Given the description of an element on the screen output the (x, y) to click on. 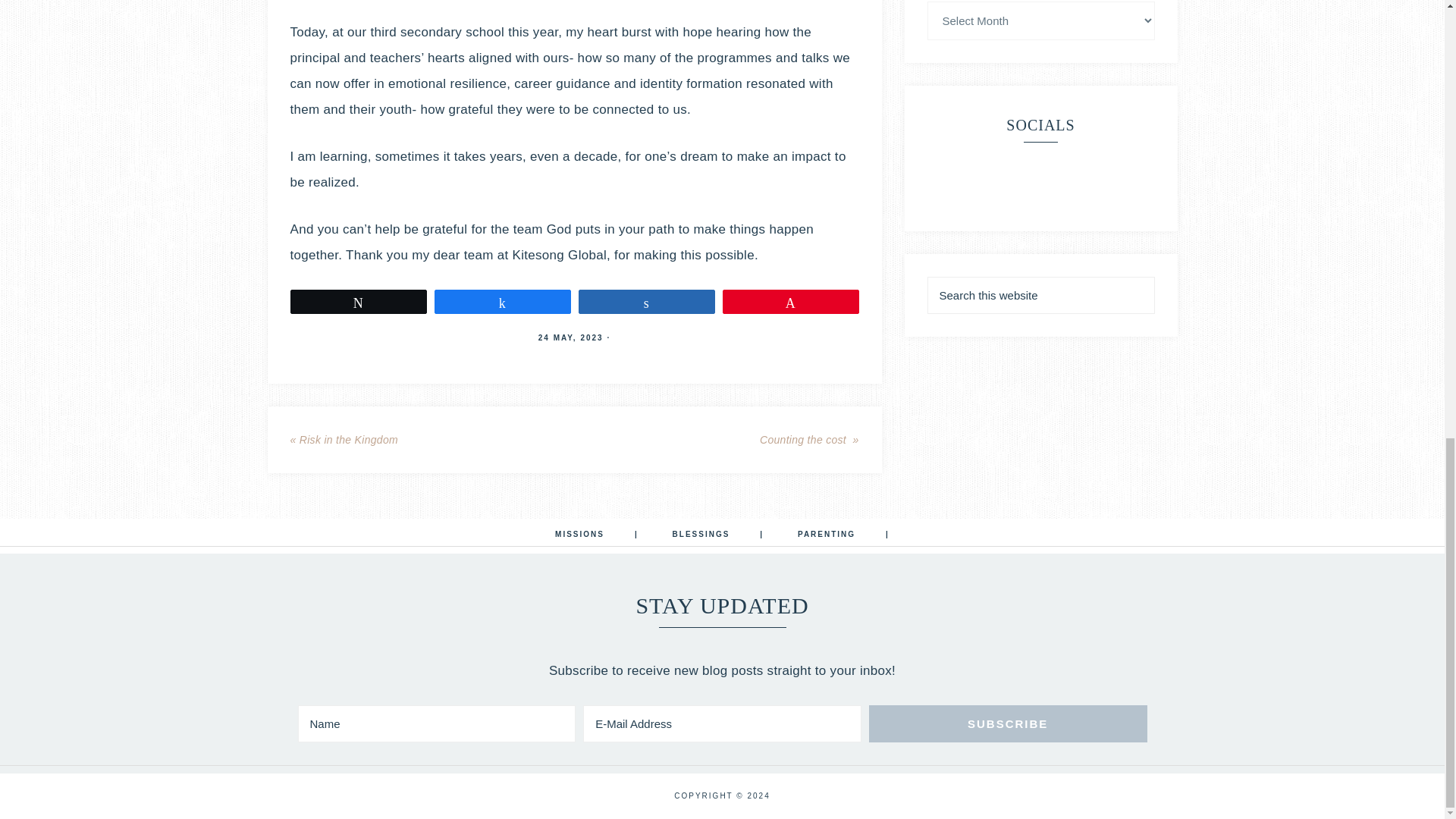
BLESSINGS (718, 535)
PARENTING (843, 535)
Subscribe (1008, 723)
Subscribe (1008, 723)
MISSIONS (596, 535)
